Given the description of an element on the screen output the (x, y) to click on. 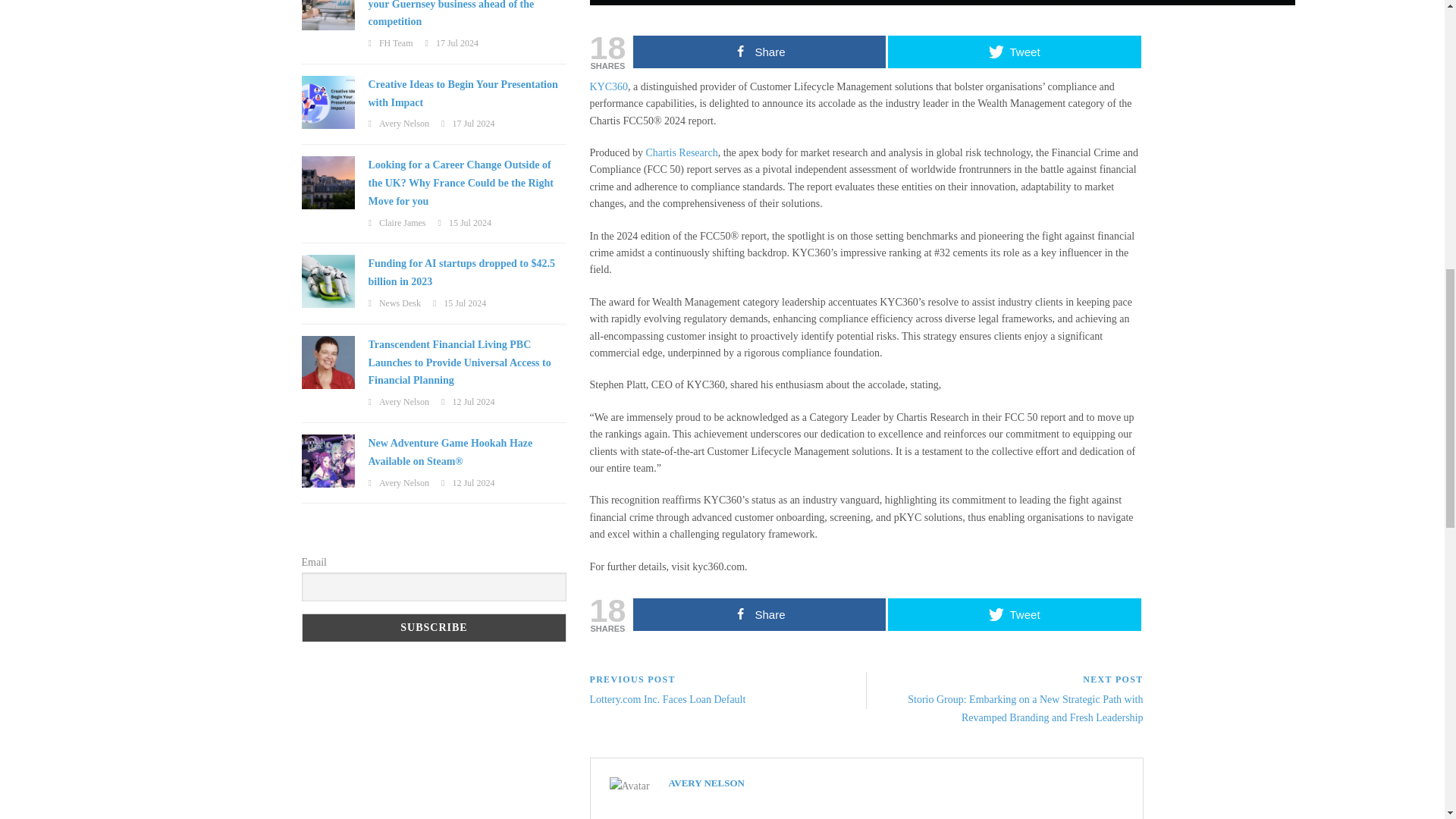
Subscribe (434, 627)
